Given the description of an element on the screen output the (x, y) to click on. 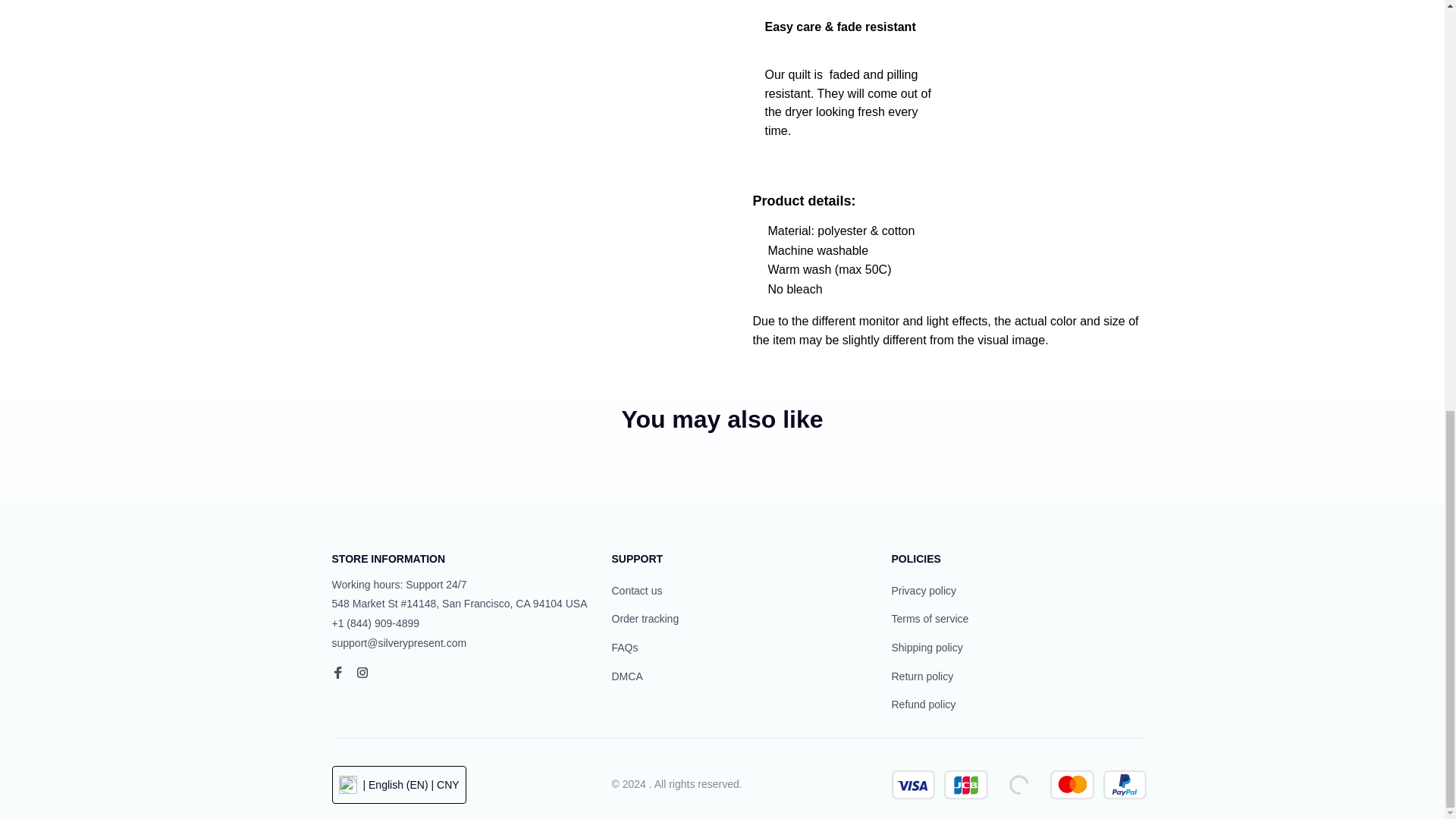
Shipping policy (926, 647)
FAQs (624, 647)
Privacy policy (923, 591)
Terms of service (930, 619)
Order tracking (644, 619)
Return policy (922, 677)
Contact us (636, 591)
Refund policy (923, 704)
DMCA (626, 677)
